Given the description of an element on the screen output the (x, y) to click on. 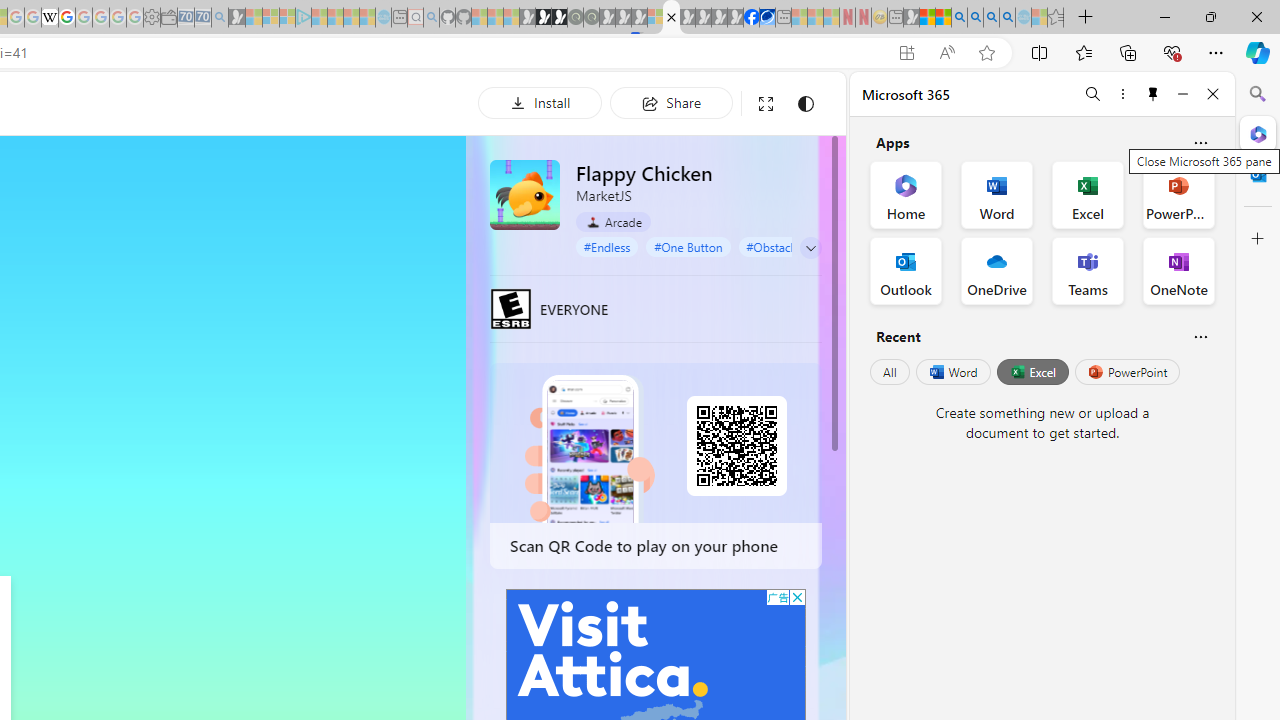
PowerPoint Office App (1178, 194)
App available. Install Flappy Chicken (906, 53)
AutomationID: cbb (797, 596)
Change to dark mode (805, 103)
